Given the description of an element on the screen output the (x, y) to click on. 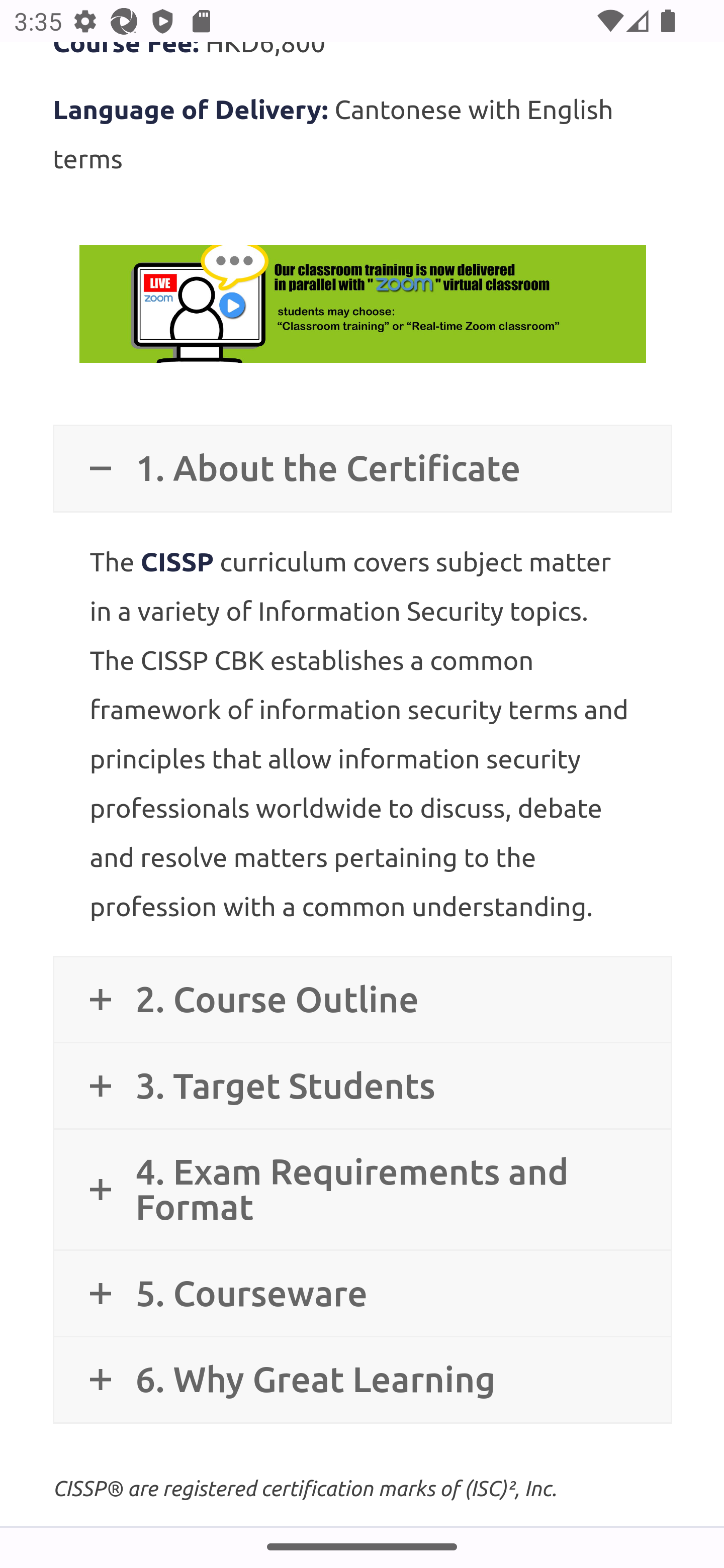
5. Courseware 5. Courseware 5. Courseware (361, 1293)
